Given the description of an element on the screen output the (x, y) to click on. 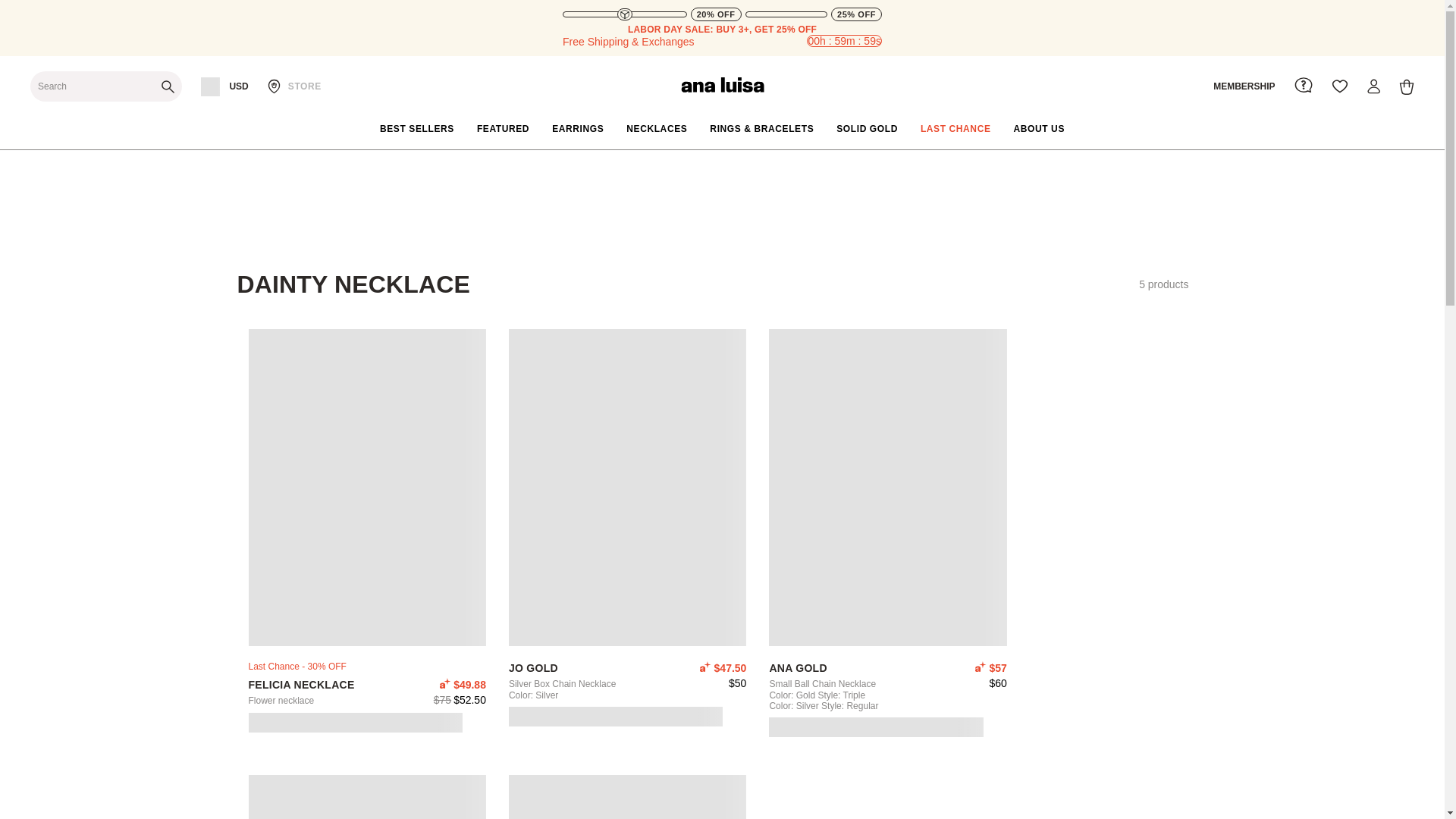
BEST SELLERS (417, 128)
STORE (294, 86)
Wishlist (1340, 86)
Search (106, 86)
